Given the description of an element on the screen output the (x, y) to click on. 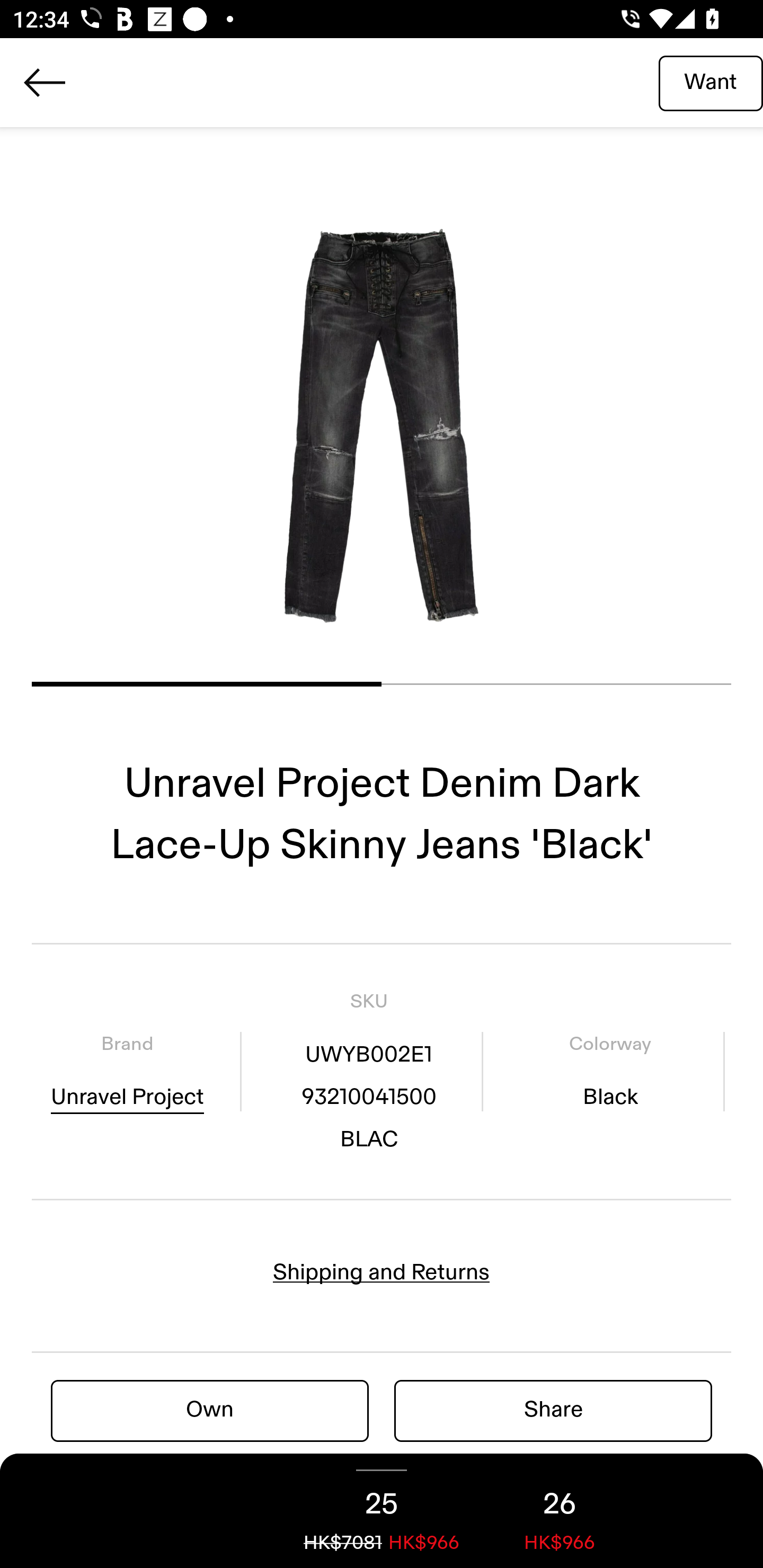
Want (710, 82)
Brand Unravel Project (126, 1070)
SKU UWYB002E193210041500 BLAC (368, 1070)
Colorway Black (609, 1070)
Shipping and Returns (381, 1272)
Own (209, 1410)
Share (552, 1410)
25 HK$7081 HK$966 (381, 1510)
26 HK$966 (559, 1510)
